Given the description of an element on the screen output the (x, y) to click on. 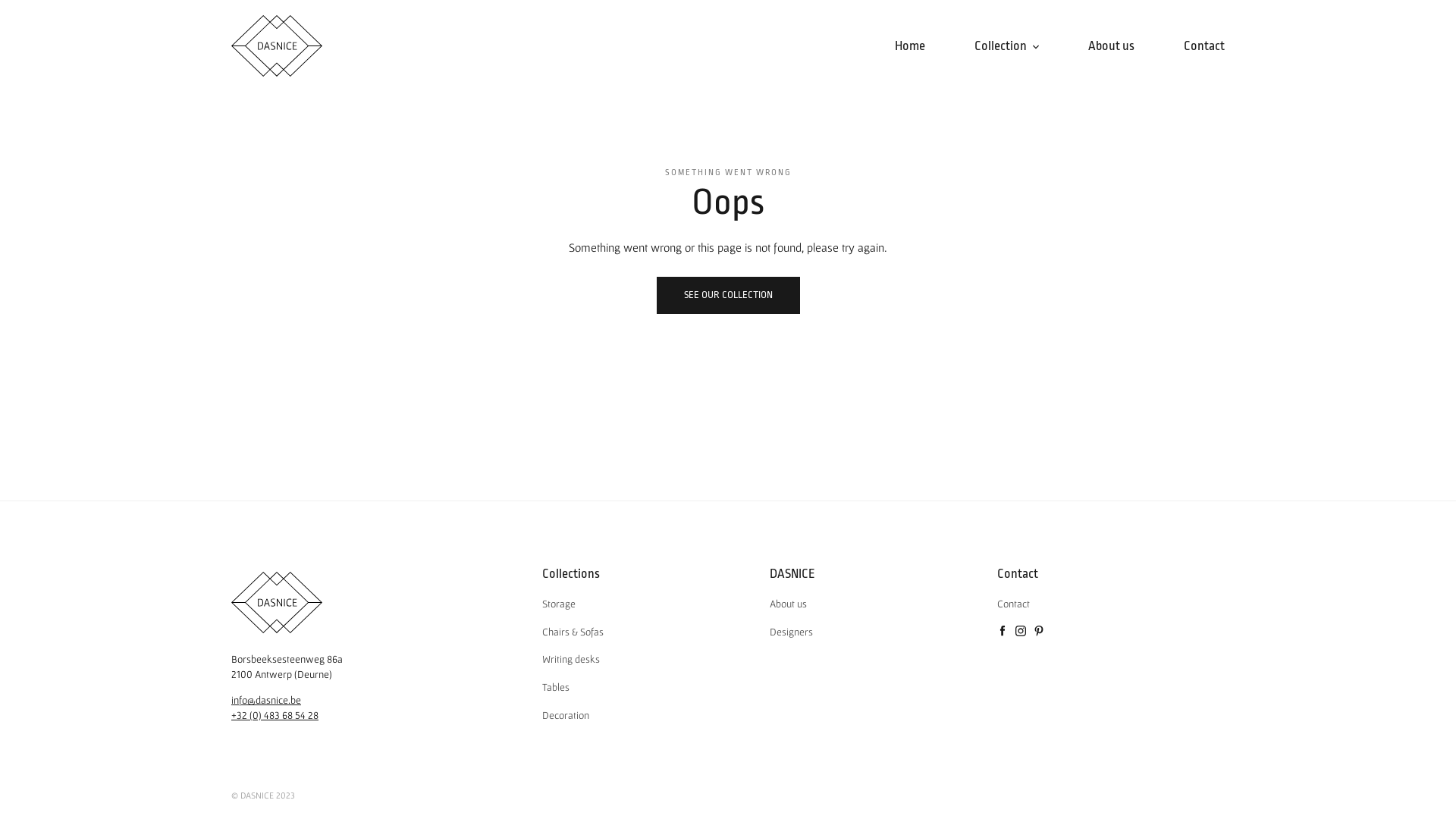
Decoration Element type: text (565, 715)
Collection Element type: text (1006, 46)
About us Element type: text (787, 603)
Chairs & Sofas Element type: text (572, 631)
Home Element type: text (909, 46)
About us Element type: text (1111, 46)
Designers Element type: text (790, 631)
Contact Element type: text (1203, 46)
Tables Element type: text (555, 686)
Writing desks Element type: text (570, 658)
SEE OUR COLLECTION Element type: text (728, 294)
+32 (0) 483 68 54 28 Element type: text (274, 715)
info@dasnice.be Element type: text (266, 699)
Contact Element type: text (1013, 603)
Storage Element type: text (558, 603)
